Given the description of an element on the screen output the (x, y) to click on. 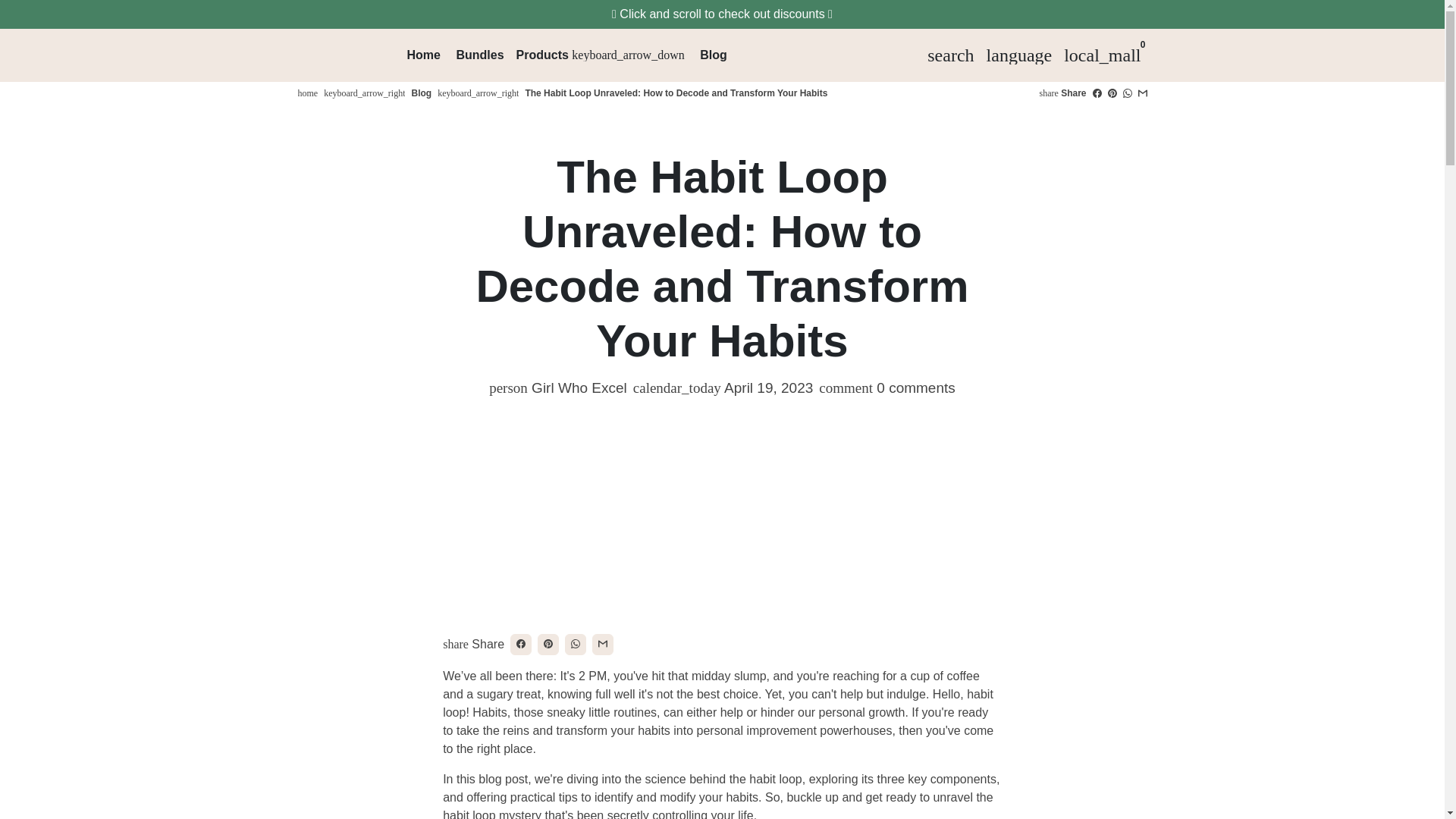
All (721, 13)
Home (422, 54)
Search (950, 54)
Cart (1102, 54)
Bundles (479, 54)
Girl who excel (307, 92)
